Given the description of an element on the screen output the (x, y) to click on. 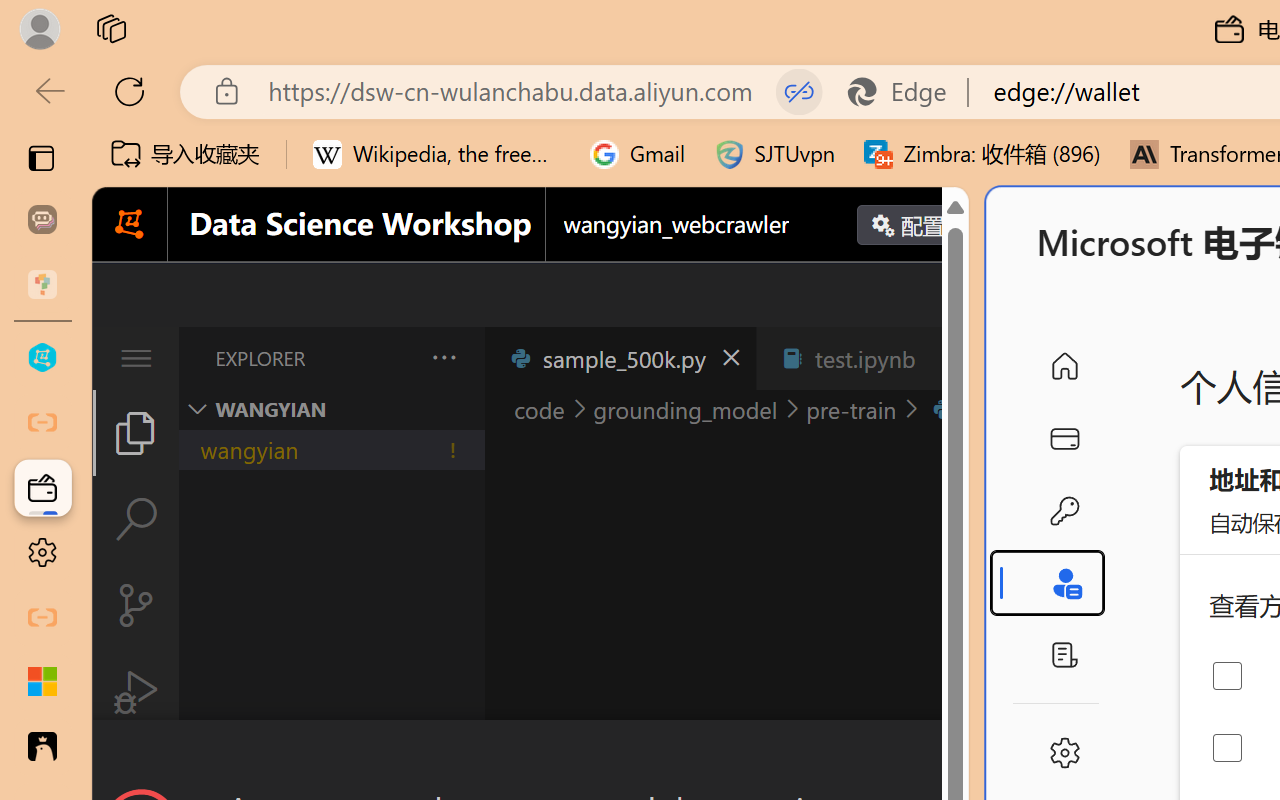
Wikipedia, the free encyclopedia (437, 154)
